Given the description of an element on the screen output the (x, y) to click on. 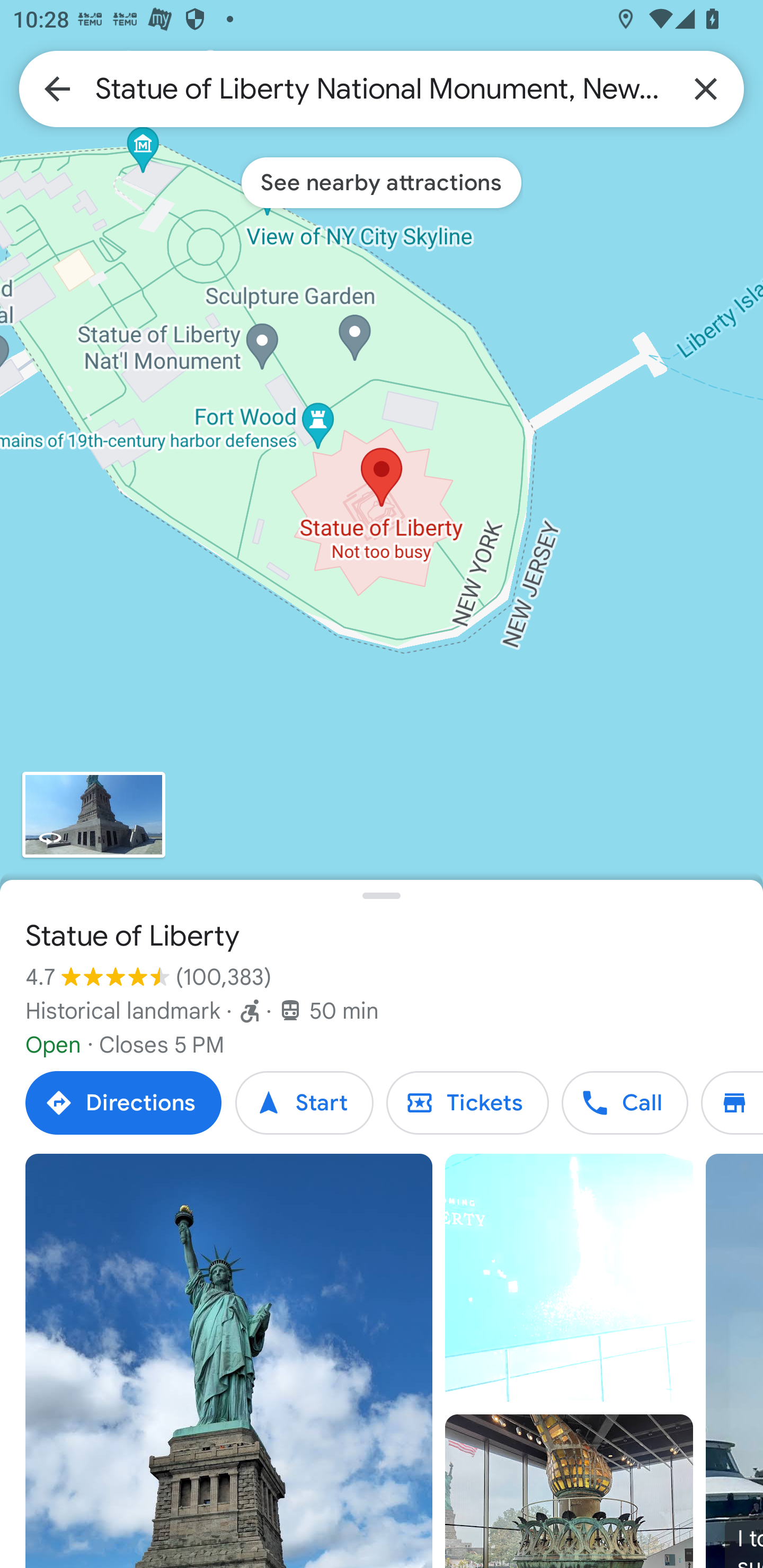
Back (57, 88)
Statue of Liberty National Monument, New York, NY (381, 88)
Clear (705, 88)
See nearby attractions (381, 182)
View Street view imagery for Statue of Liberty (93, 814)
Start Start Start (304, 1102)
Tickets (467, 1102)
Call Statue of Liberty Call Call Statue of Liberty (624, 1102)
Directory Directory Directory (732, 1102)
Photo (228, 1361)
Video (568, 1277)
Photo (568, 1491)
